Given the description of an element on the screen output the (x, y) to click on. 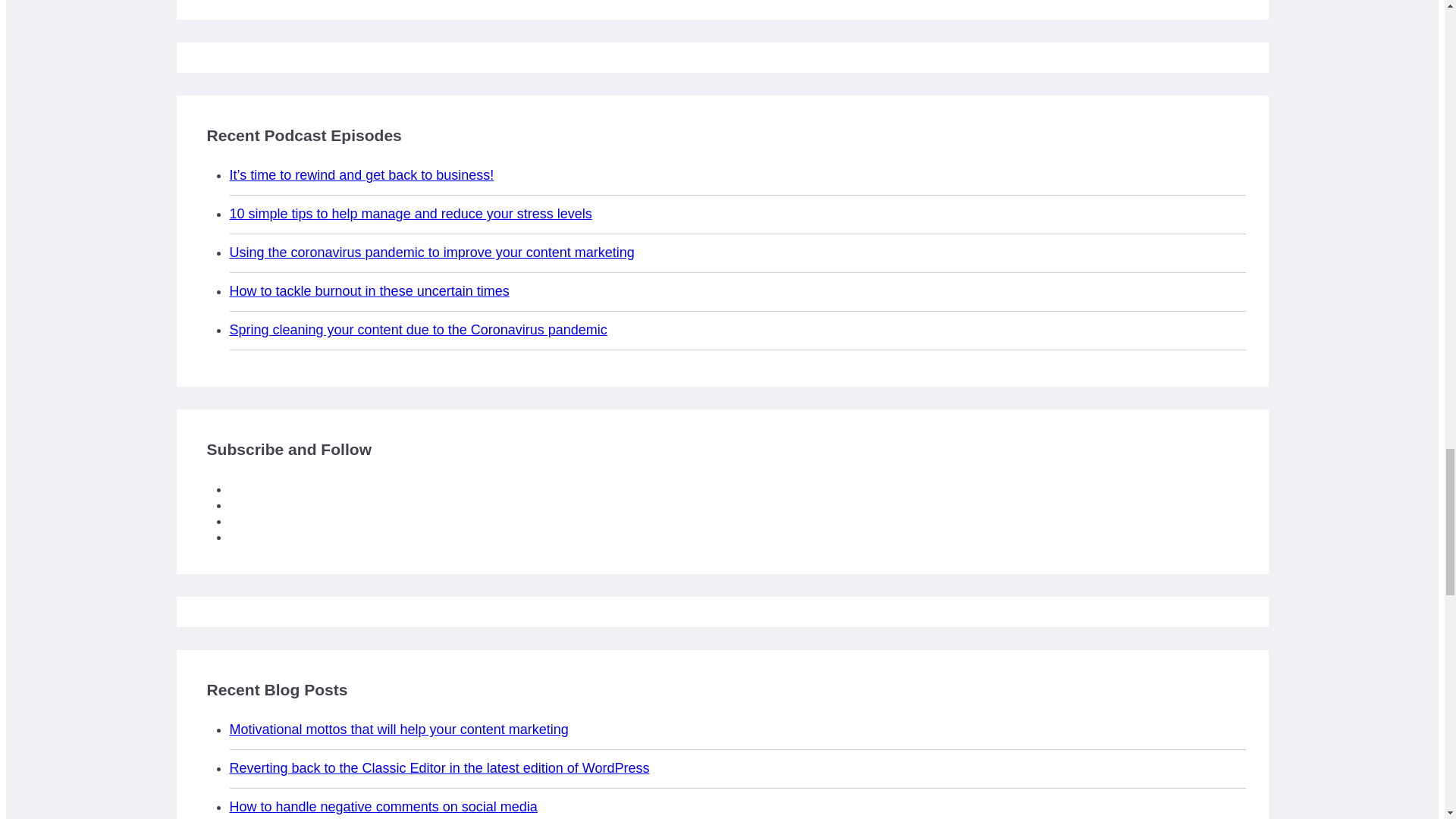
How to tackle burnout in these uncertain times (368, 290)
10 simple tips to help manage and reduce your stress levels (409, 213)
